Given the description of an element on the screen output the (x, y) to click on. 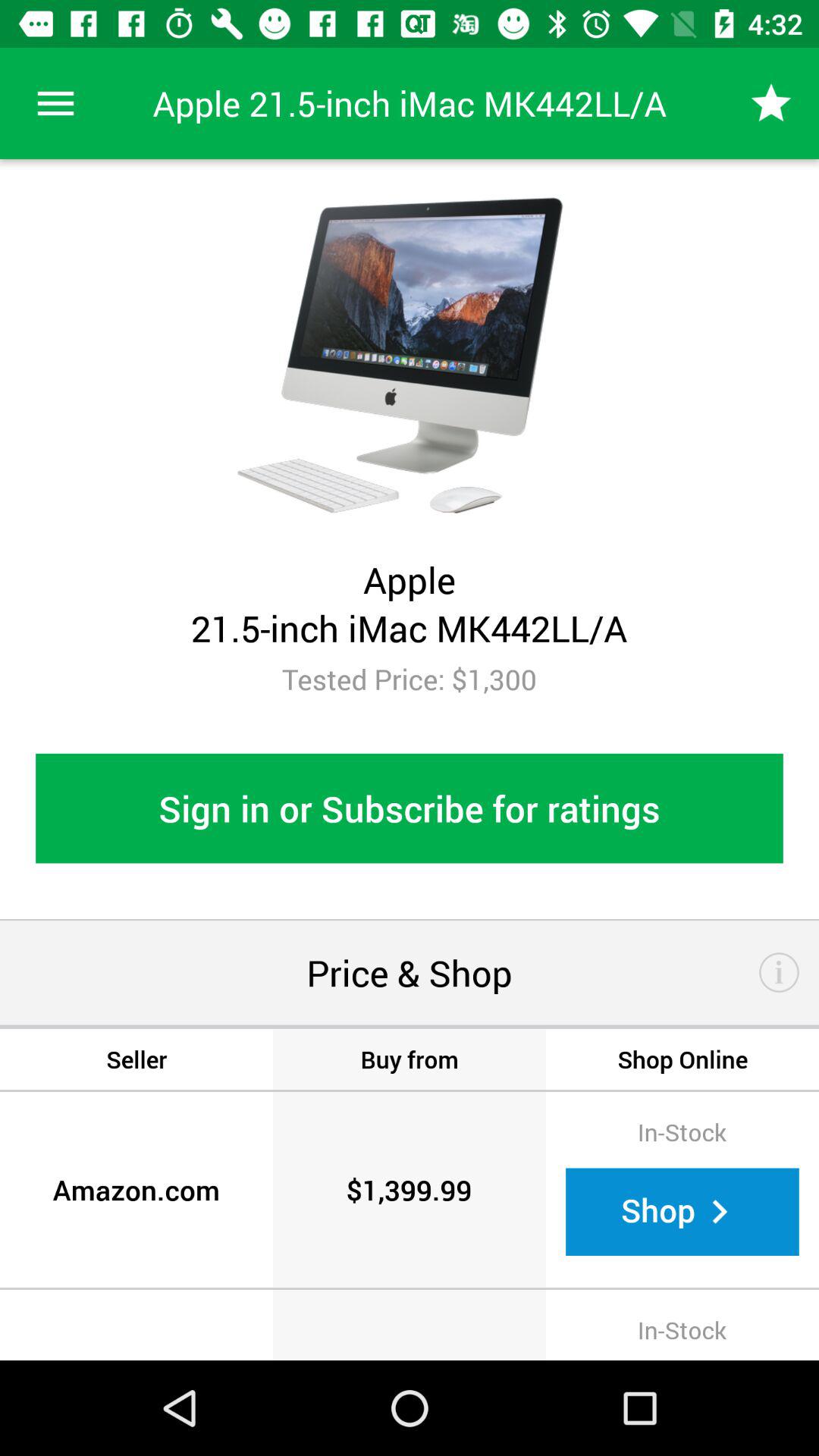
more information on product (779, 972)
